Given the description of an element on the screen output the (x, y) to click on. 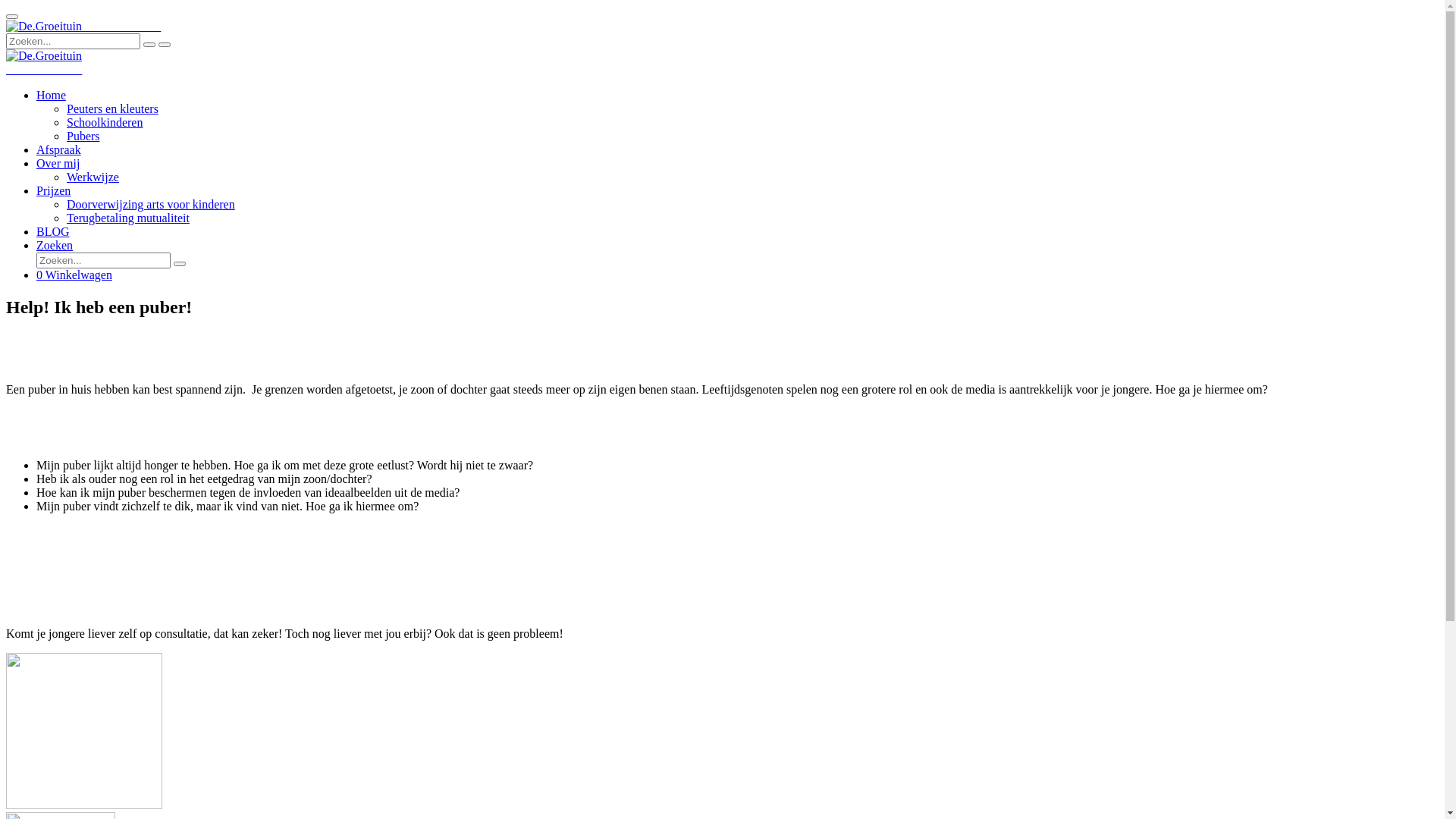
De.Groeituin Element type: hover (43, 55)
Kinderdietiste Babette Element type: text (43, 68)
Schoolkinderen Element type: text (104, 122)
Over mij Element type: text (57, 162)
De.Groeituin Element type: hover (43, 26)
Kinderdietiste Babette Element type: text (83, 25)
Terugbetaling mutualiteit Element type: text (127, 217)
Pubers Element type: text (83, 135)
Afspraak Element type: text (58, 149)
Zoeken Element type: text (54, 244)
Werkwijze Element type: text (92, 176)
Boek je afspraak Element type: text (722, 570)
Home Element type: text (50, 94)
Prijzen Element type: text (53, 190)
Doorverwijzing arts voor kinderen Element type: text (150, 203)
0 Winkelwagen Element type: text (74, 274)
BLOG Element type: text (52, 231)
Peuters en kleuters Element type: text (112, 108)
